Given the description of an element on the screen output the (x, y) to click on. 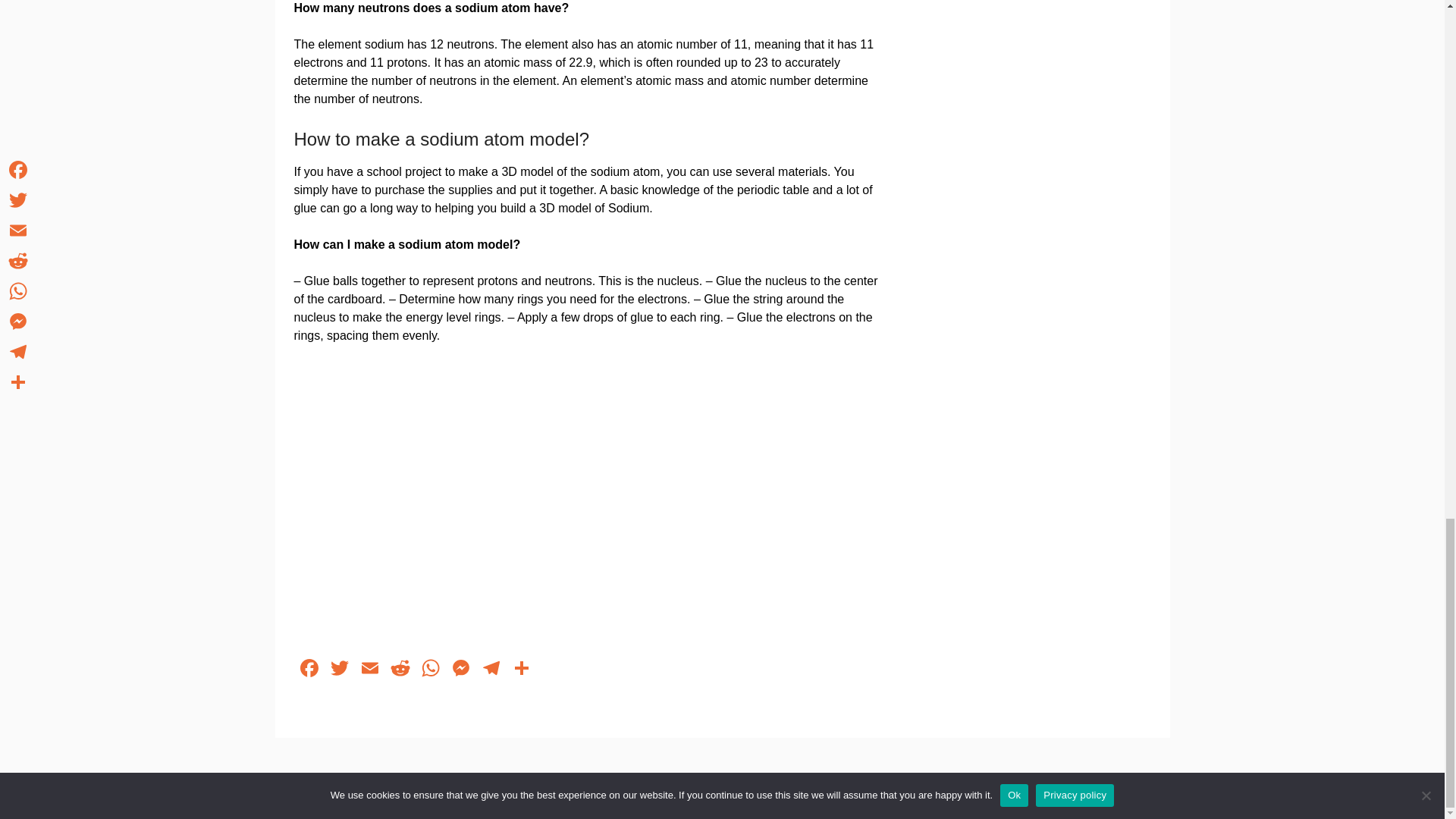
Telegram (491, 669)
WhatsApp (429, 669)
Messenger (460, 669)
Facebook (309, 669)
Reddit (399, 669)
Messenger (460, 669)
Responsive Blogily (821, 797)
Reddit (399, 669)
Telegram (491, 669)
Twitter (339, 669)
Facebook (309, 669)
WhatsApp (429, 669)
Email (370, 669)
Email (370, 669)
Twitter (339, 669)
